Given the description of an element on the screen output the (x, y) to click on. 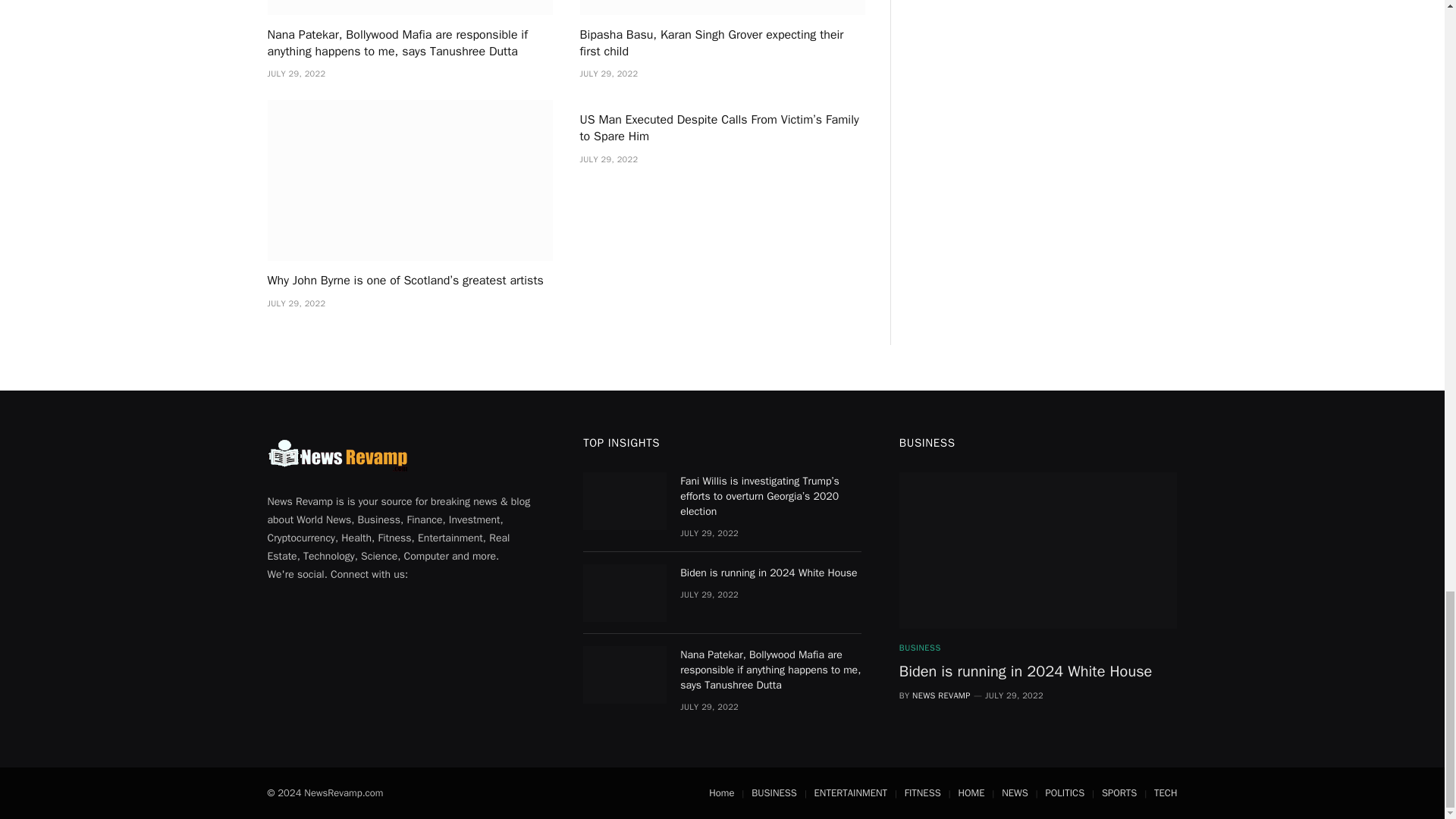
Bipasha Basu, Karan Singh Grover expecting their first child (721, 43)
Bipasha Basu, Karan Singh Grover expecting their first child (721, 7)
